Given the description of an element on the screen output the (x, y) to click on. 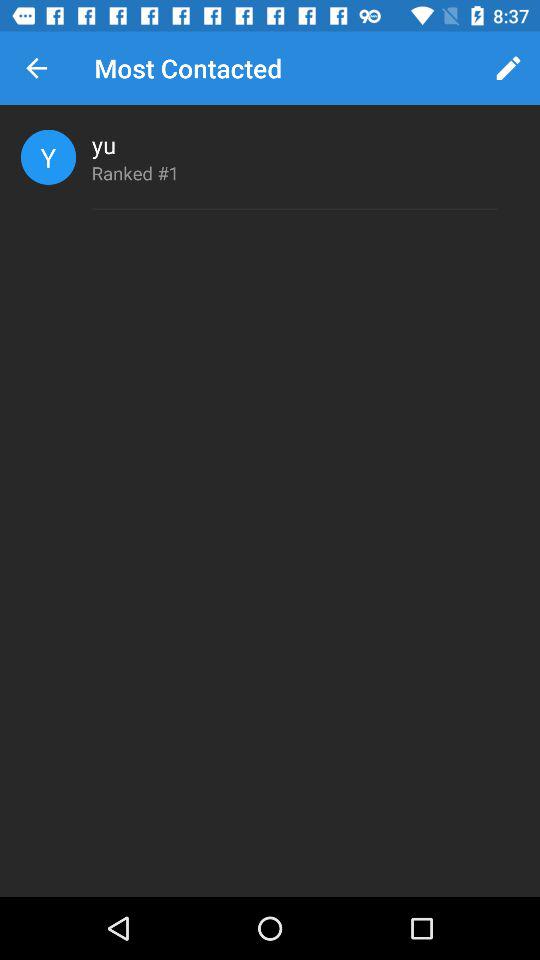
swipe to the yu item (103, 144)
